Given the description of an element on the screen output the (x, y) to click on. 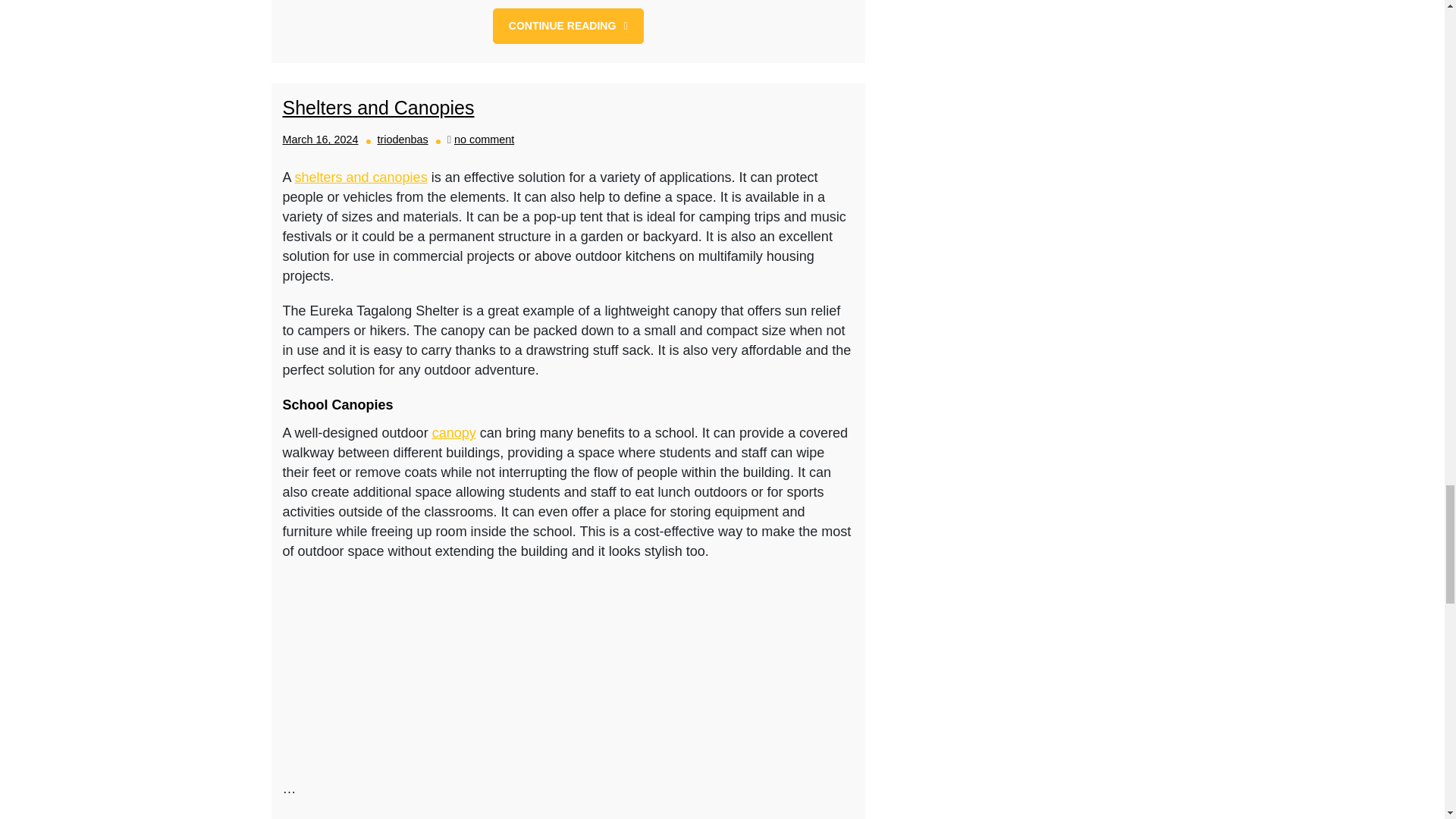
CONTINUE READING (568, 26)
Shelters and Canopies (378, 107)
March 16, 2024 (320, 139)
triodenbas (402, 139)
